Given the description of an element on the screen output the (x, y) to click on. 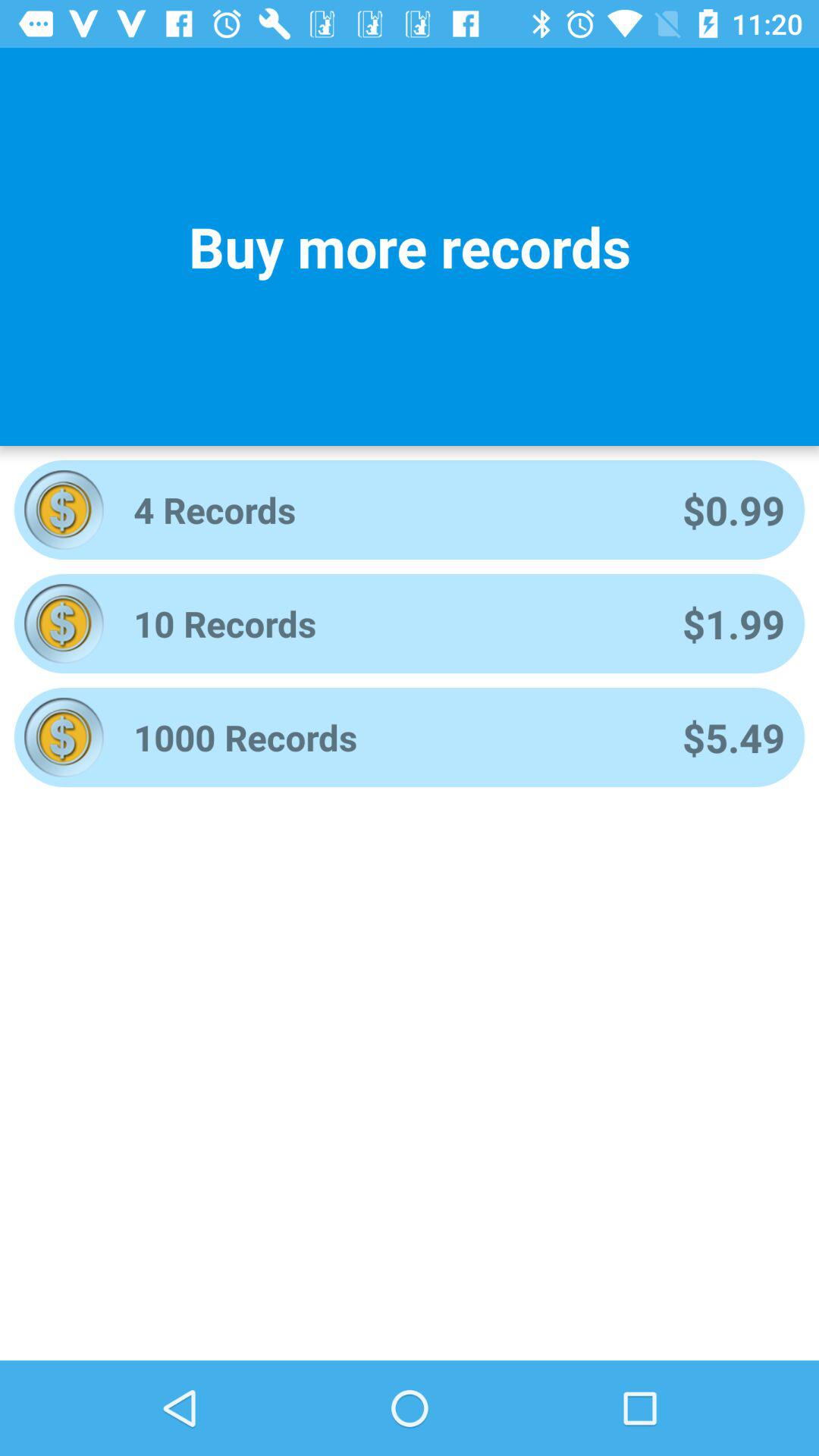
select the 10 records app (387, 623)
